Given the description of an element on the screen output the (x, y) to click on. 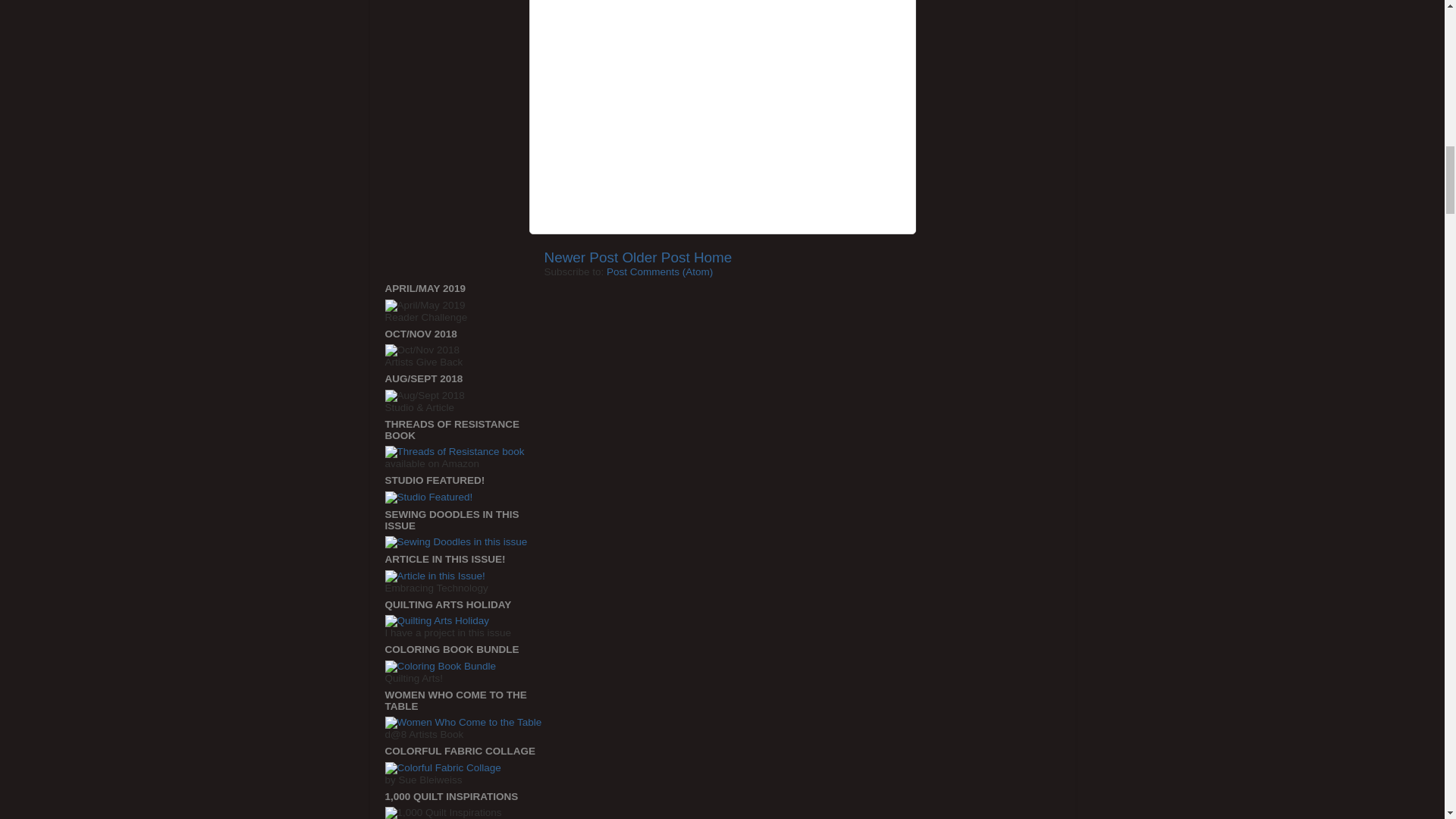
Home (713, 257)
Newer Post (581, 257)
Older Post (654, 257)
Newer Post (581, 257)
Older Post (654, 257)
